Given the description of an element on the screen output the (x, y) to click on. 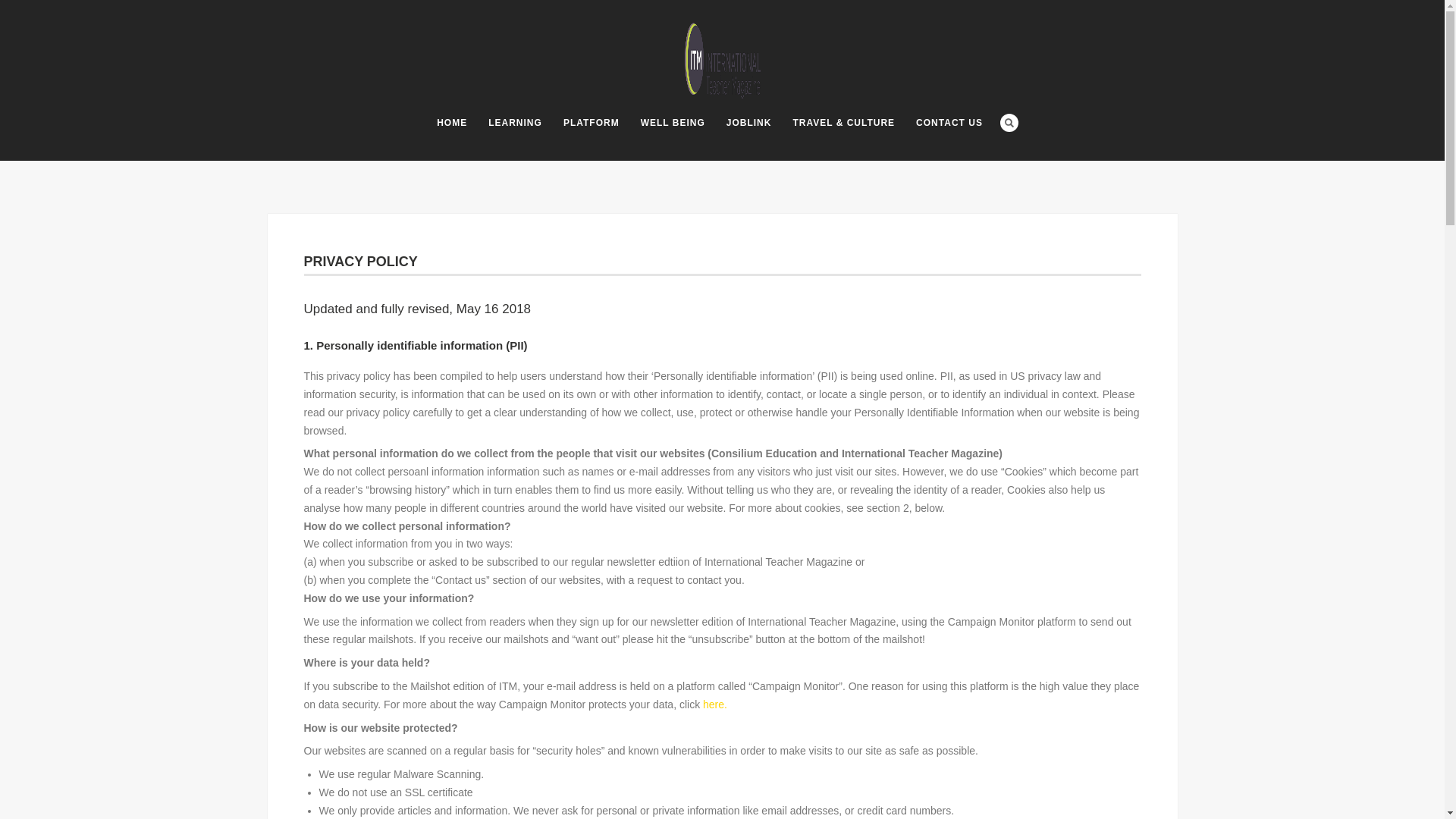
Search (1008, 122)
HOME (451, 122)
WELL BEING (673, 122)
JOBLINK (749, 122)
PLATFORM (591, 122)
CONTACT US (948, 122)
LEARNING (515, 122)
